Given the description of an element on the screen output the (x, y) to click on. 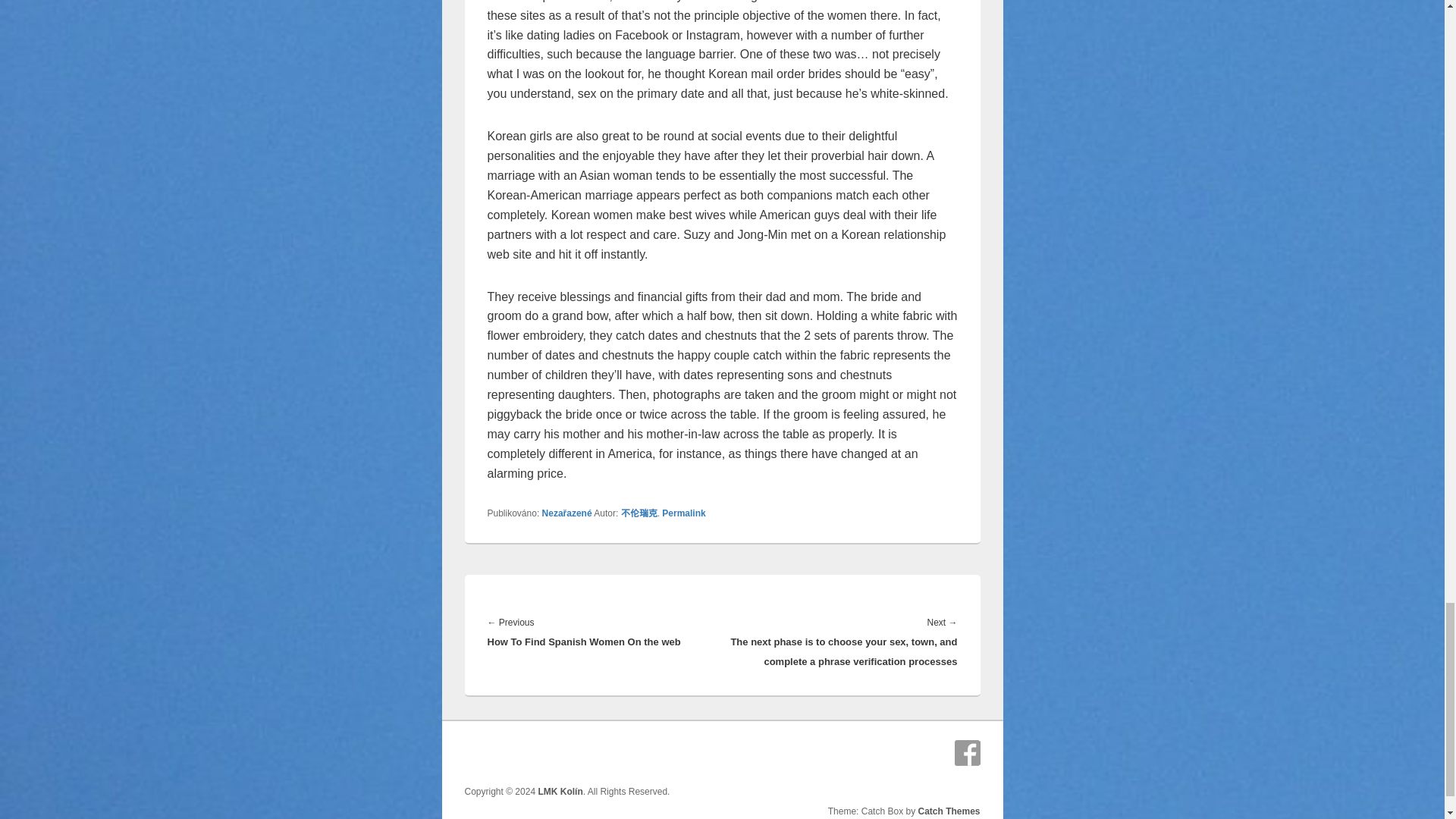
Catch Themes (948, 810)
Permalink (683, 512)
Catch Themes (948, 810)
